Given the description of an element on the screen output the (x, y) to click on. 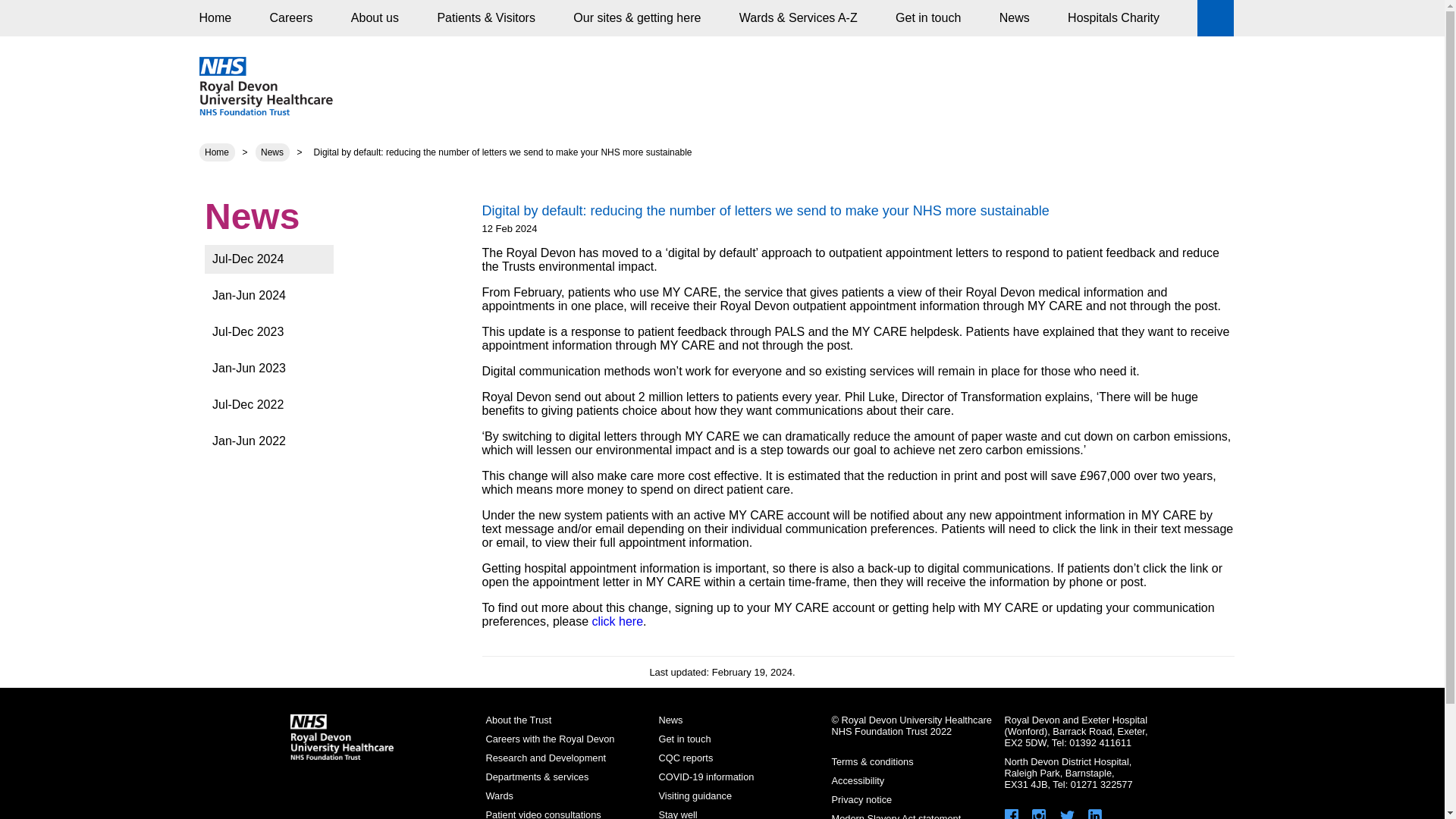
Jan-Jun 2023 (299, 368)
News (271, 152)
Modern Slavery Statement (895, 816)
Jul-Dec 2022 (299, 404)
Jul-Dec 2024 (299, 258)
News (670, 719)
Jul-Dec 2023 (299, 331)
Research and Development (544, 757)
Patient video consultations (541, 814)
